Given the description of an element on the screen output the (x, y) to click on. 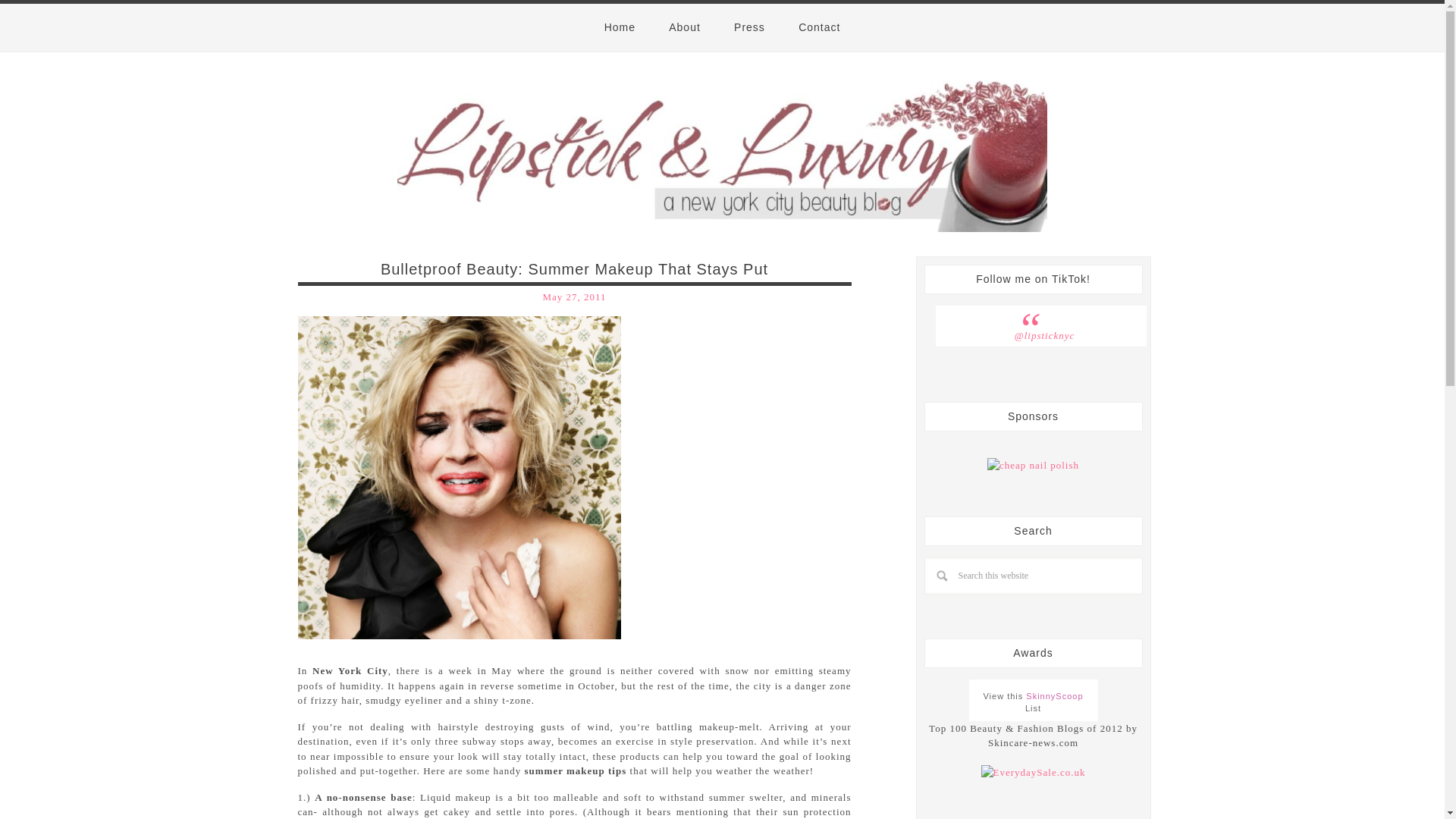
melted makeup (458, 476)
Bulletproof Beauty: Summer Makeup That Stays Put (574, 269)
Press (749, 27)
DHgate has nail art supplies for sale (1032, 465)
Home (619, 27)
About (684, 27)
Contact (819, 27)
View this SkinnyScoop List (1032, 702)
